Given the description of an element on the screen output the (x, y) to click on. 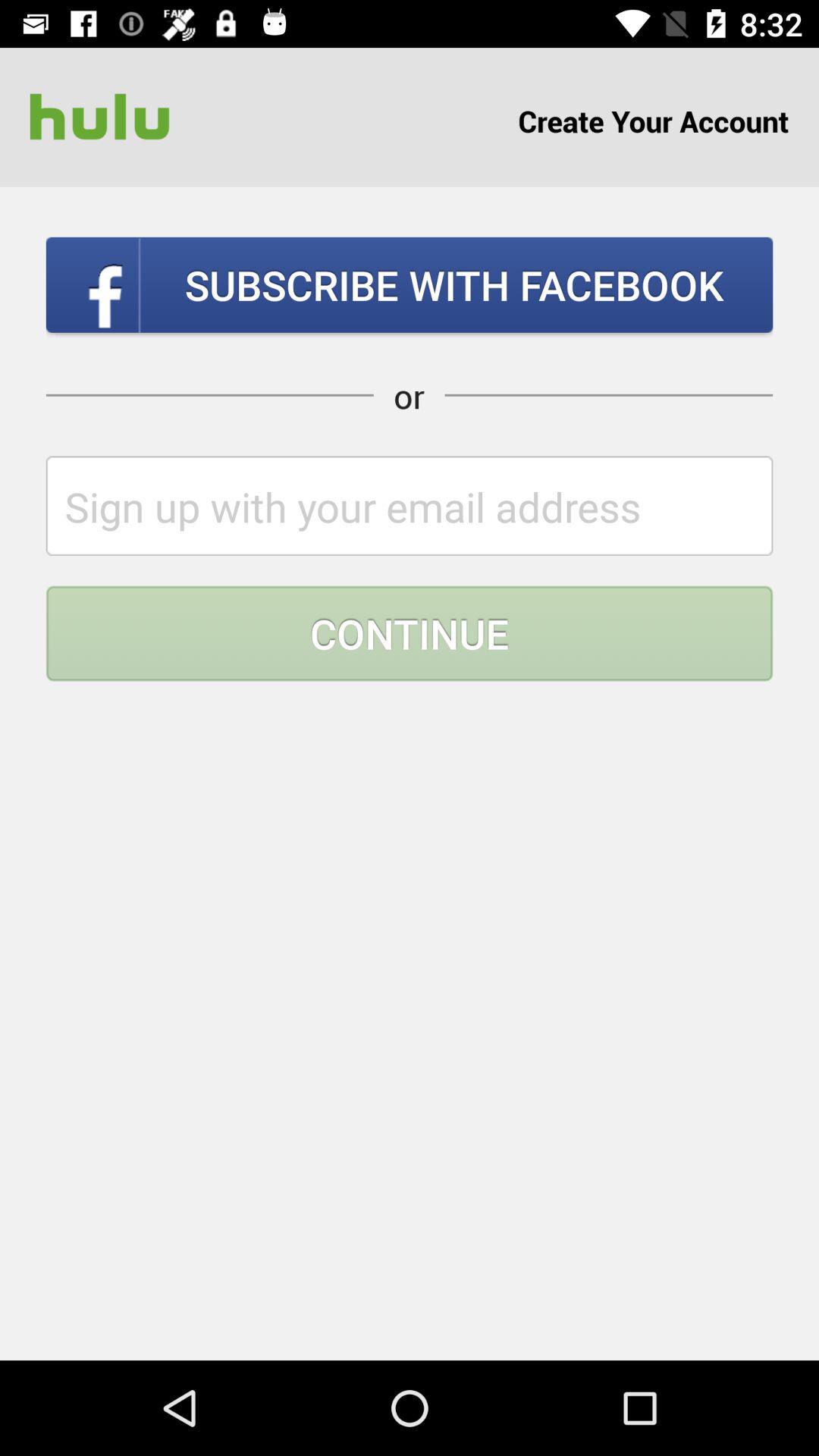
flip until subscribe with facebook icon (409, 284)
